Given the description of an element on the screen output the (x, y) to click on. 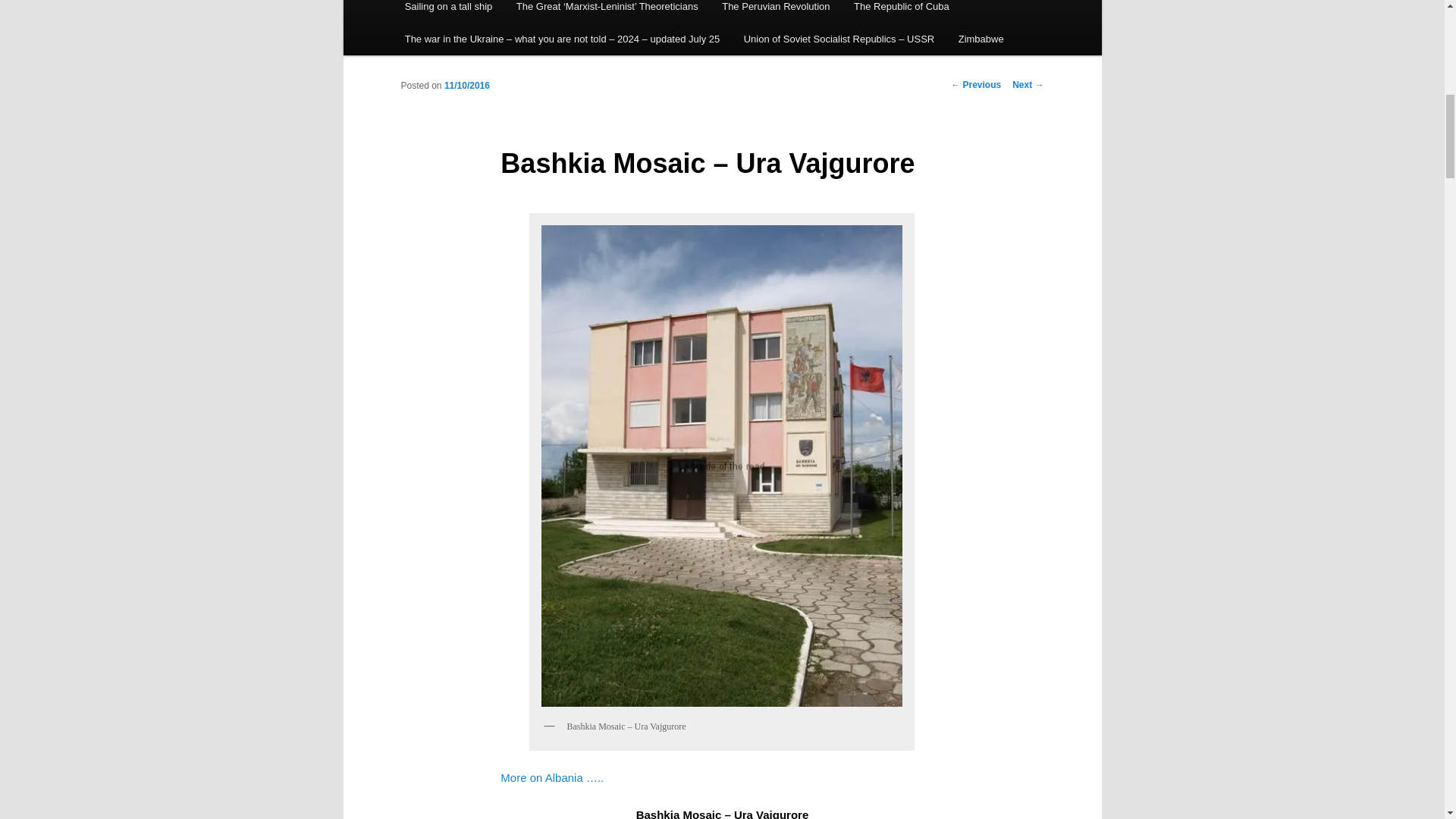
The Republic of Cuba (900, 11)
Sailing on a tall ship (448, 11)
Zimbabwe (980, 38)
The Peruvian Revolution (775, 11)
